Given the description of an element on the screen output the (x, y) to click on. 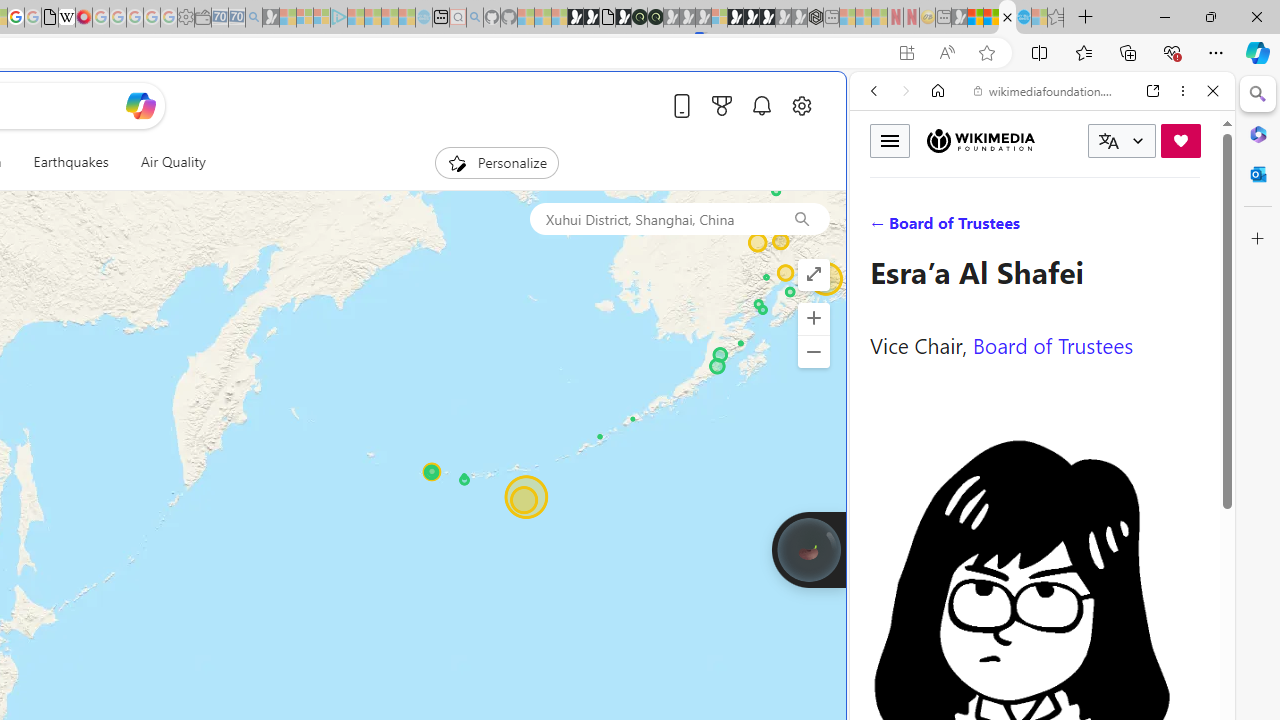
Close split screen (844, 102)
Microsoft rewards (721, 105)
Search Filter, WEB (882, 228)
Favorites - Sleeping (1055, 17)
Target page - Wikipedia (66, 17)
App available. Install Microsoft Start Weather (906, 53)
Wallet - Sleeping (202, 17)
Tabs you've opened (276, 265)
IMAGES (939, 228)
